Given the description of an element on the screen output the (x, y) to click on. 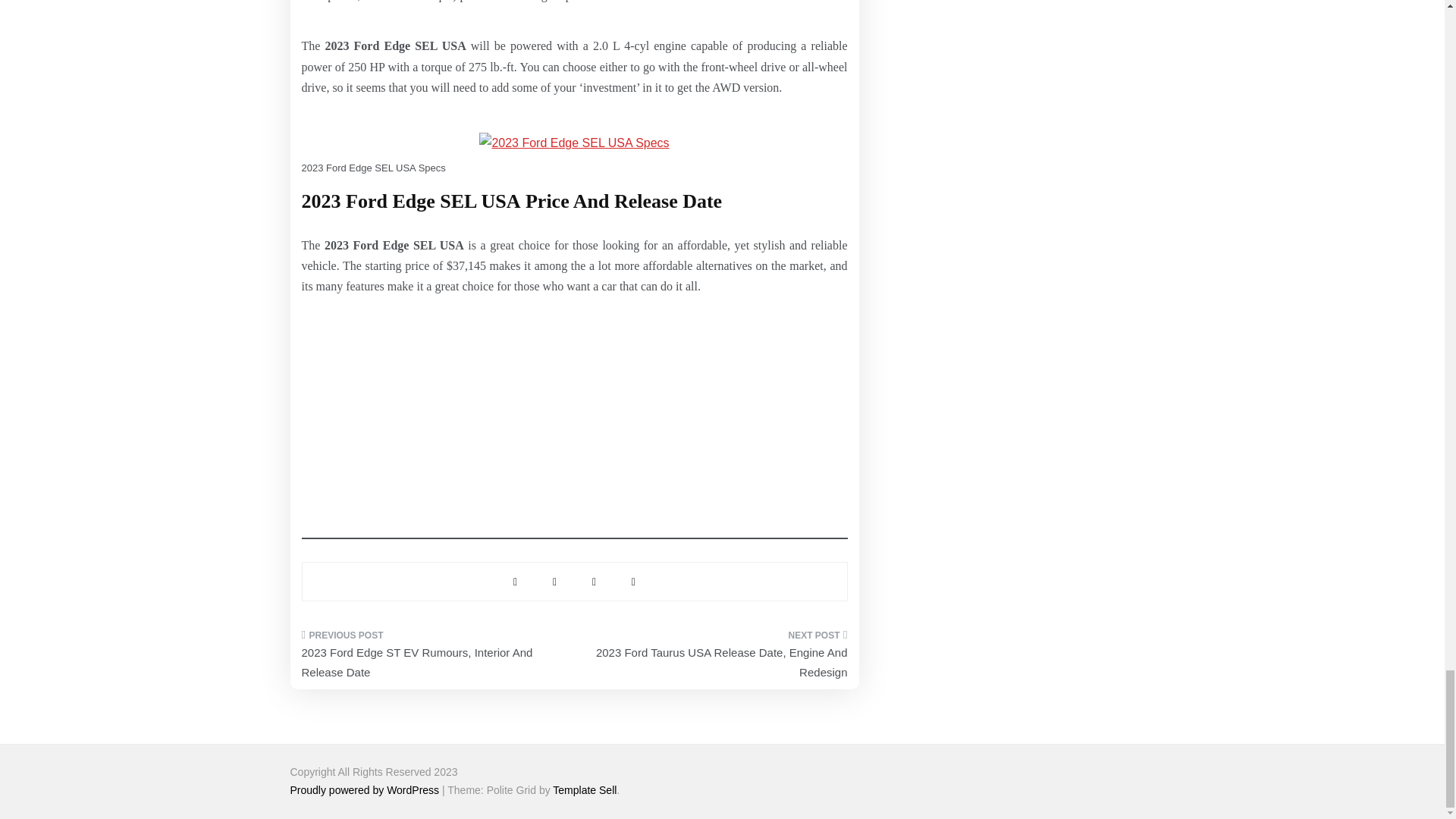
2023 Ford Edge ST EV Rumours, Interior And Release Date (432, 658)
14 (573, 142)
2023 Ford Taurus USA Release Date, Engine And Redesign (716, 658)
